Given the description of an element on the screen output the (x, y) to click on. 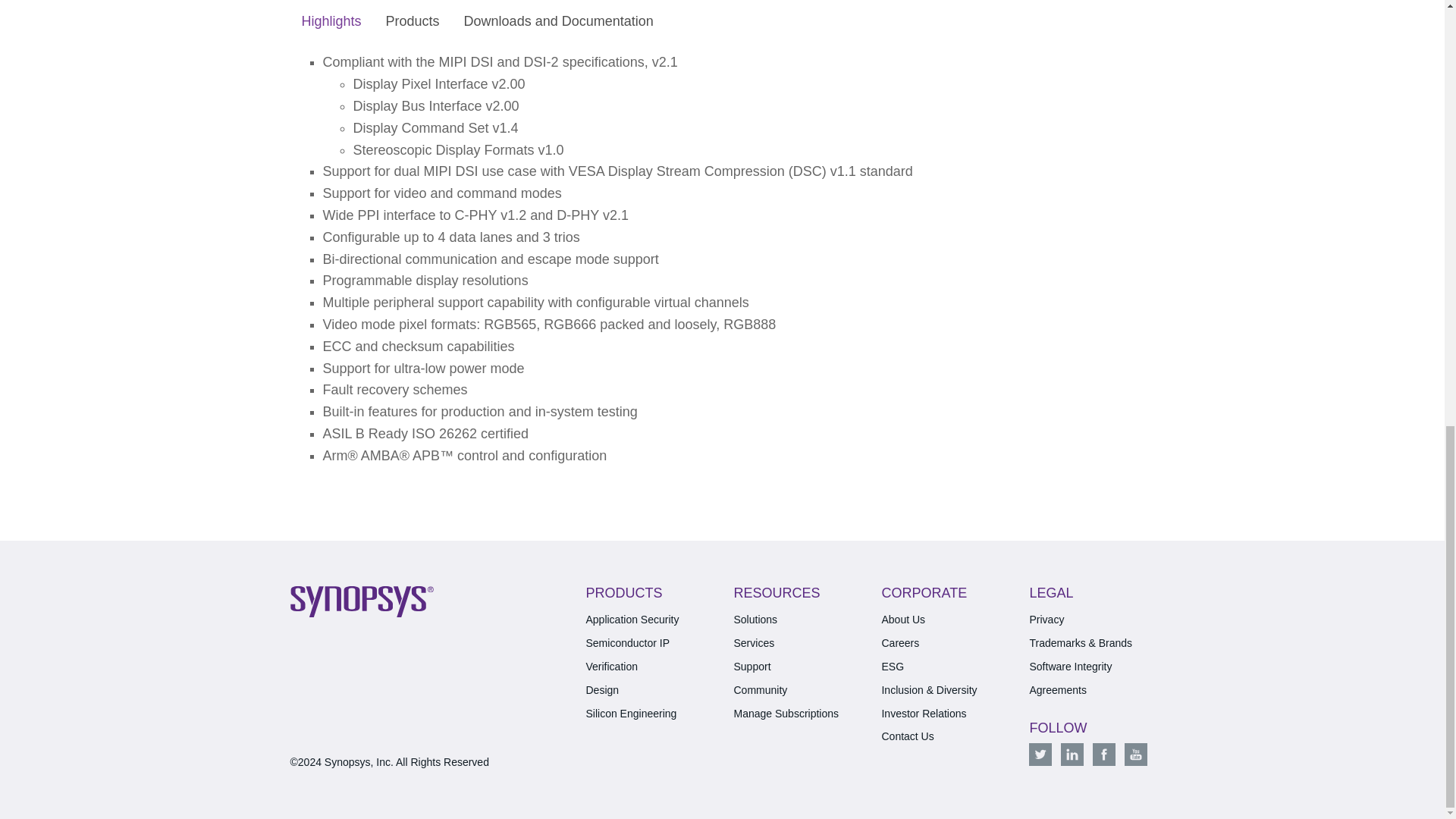
Youtube (1135, 753)
Twitter (1040, 753)
Facebook (1104, 753)
Linkedin (1072, 753)
